Given the description of an element on the screen output the (x, y) to click on. 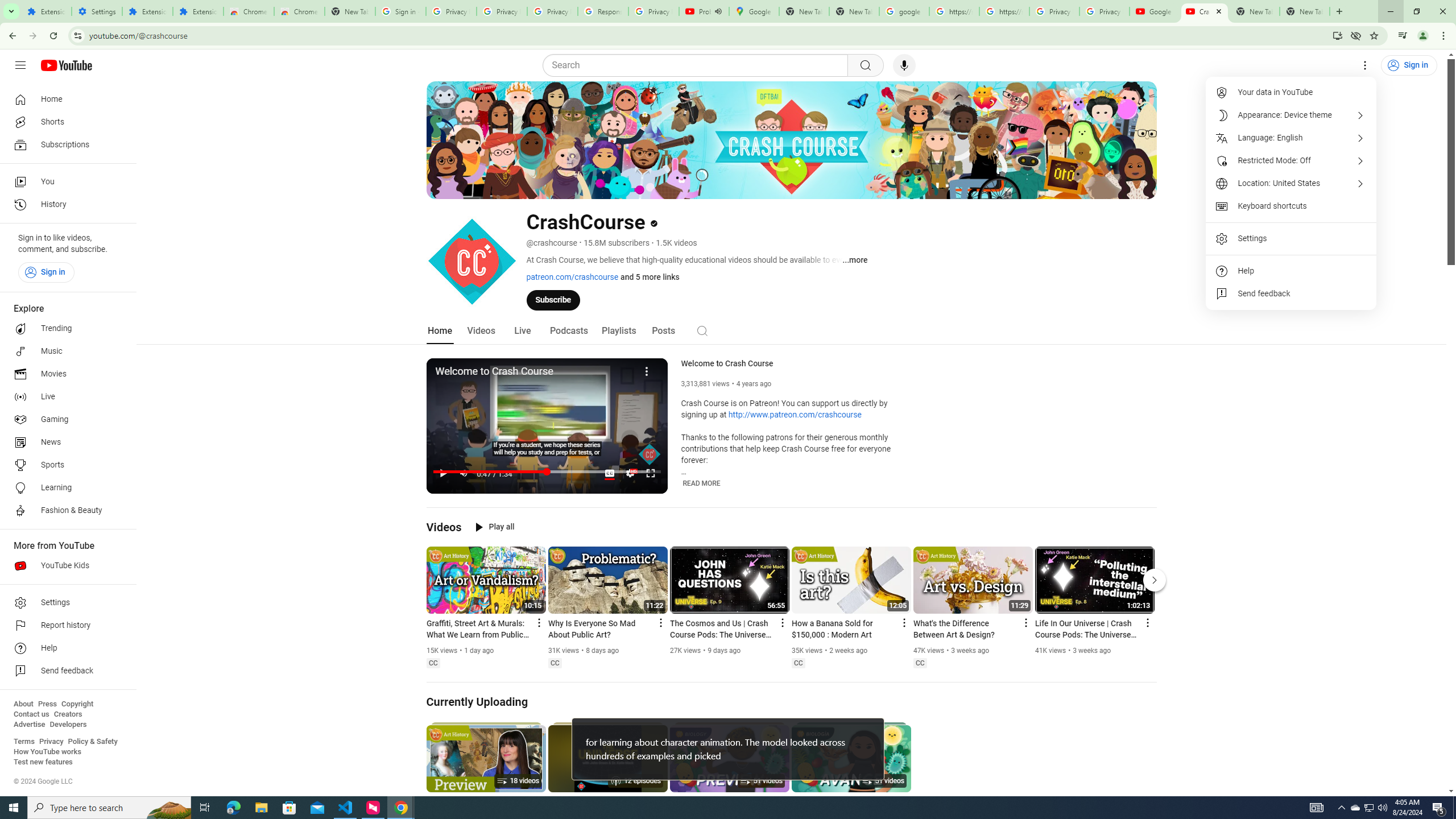
Shorts (64, 121)
Copyright (77, 703)
Keyboard shortcuts (1291, 205)
Subscribe (552, 299)
Fashion & Beauty (64, 510)
Extensions (46, 11)
News (64, 441)
Playlists (618, 330)
Guide (20, 65)
https://scholar.google.com/ (1004, 11)
Google Maps (753, 11)
